Given the description of an element on the screen output the (x, y) to click on. 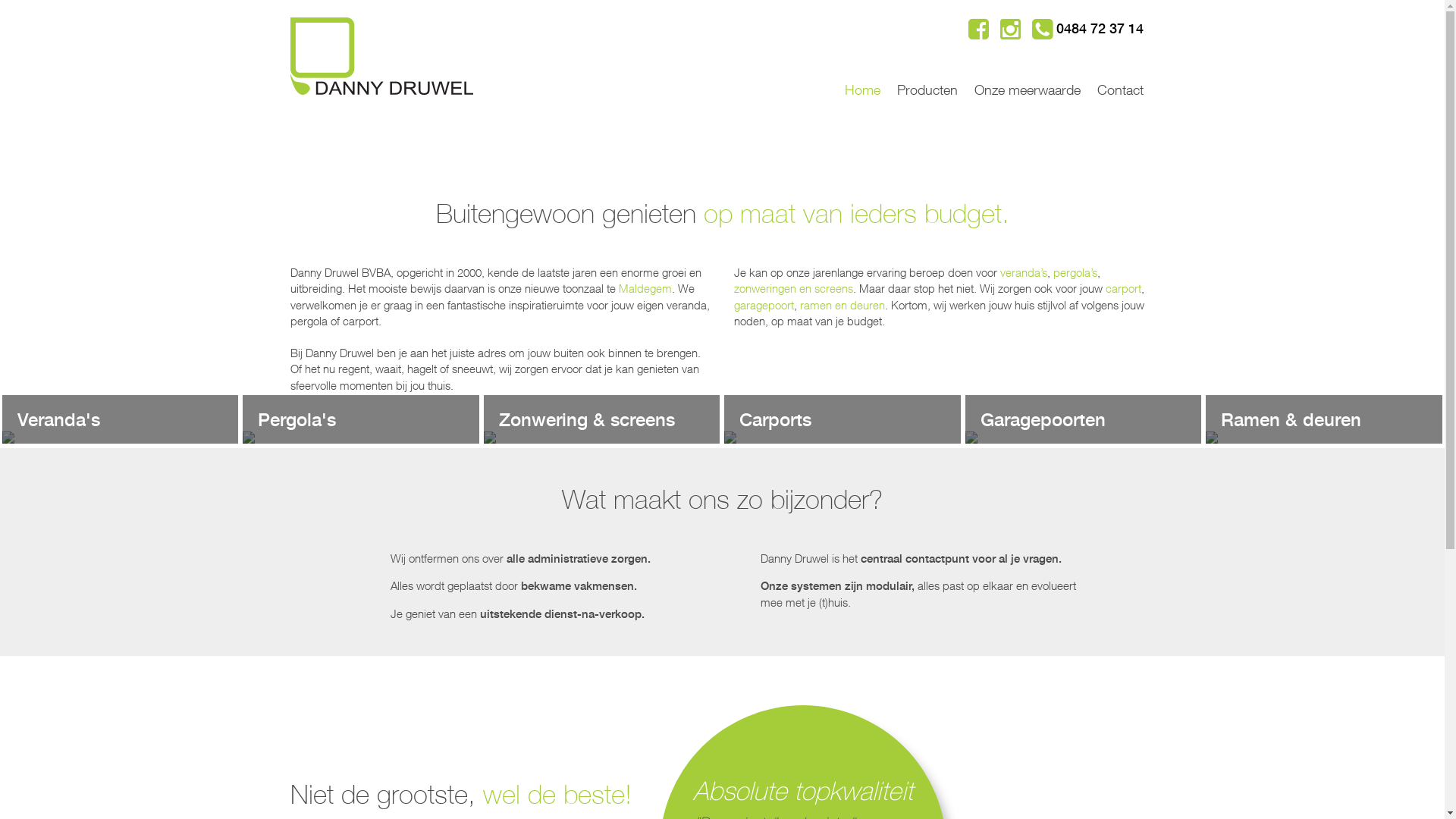
Carports Element type: text (842, 437)
Veranda's Element type: text (120, 437)
Maldegem Element type: text (644, 288)
Garagepoorten Element type: text (1083, 437)
Home Element type: text (861, 76)
carport Element type: text (1123, 288)
Zonwering & screens Element type: text (601, 437)
Producten Element type: text (927, 76)
ramen en deuren Element type: text (841, 305)
Pergola's Element type: text (360, 437)
garagepoort Element type: text (763, 305)
Danny Druwel -  Element type: hover (380, 55)
zonweringen en screens Element type: text (793, 288)
Onze meerwaarde Element type: text (1027, 76)
Contact Element type: text (1115, 76)
Ramen & deuren Element type: text (1323, 437)
